Given the description of an element on the screen output the (x, y) to click on. 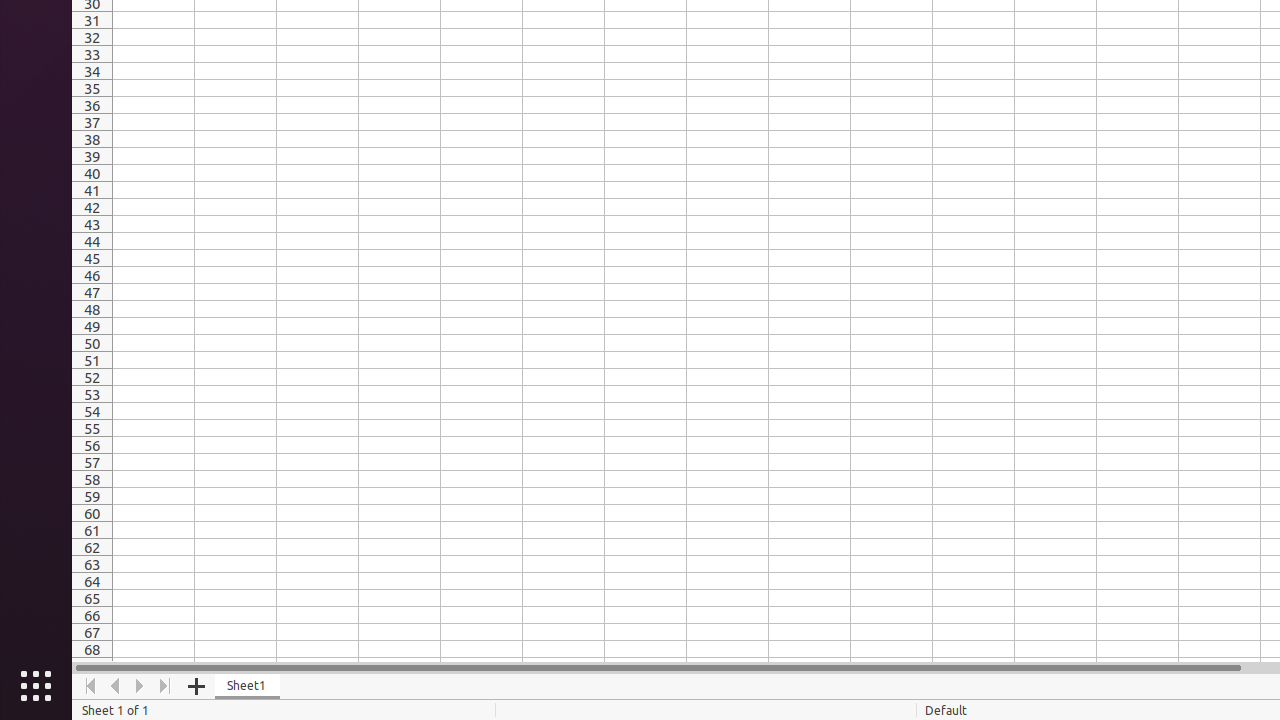
Move Left Element type: push-button (115, 686)
Move To Home Element type: push-button (90, 686)
Move To End Element type: push-button (165, 686)
Sheet1 Element type: page-tab (247, 686)
